Given the description of an element on the screen output the (x, y) to click on. 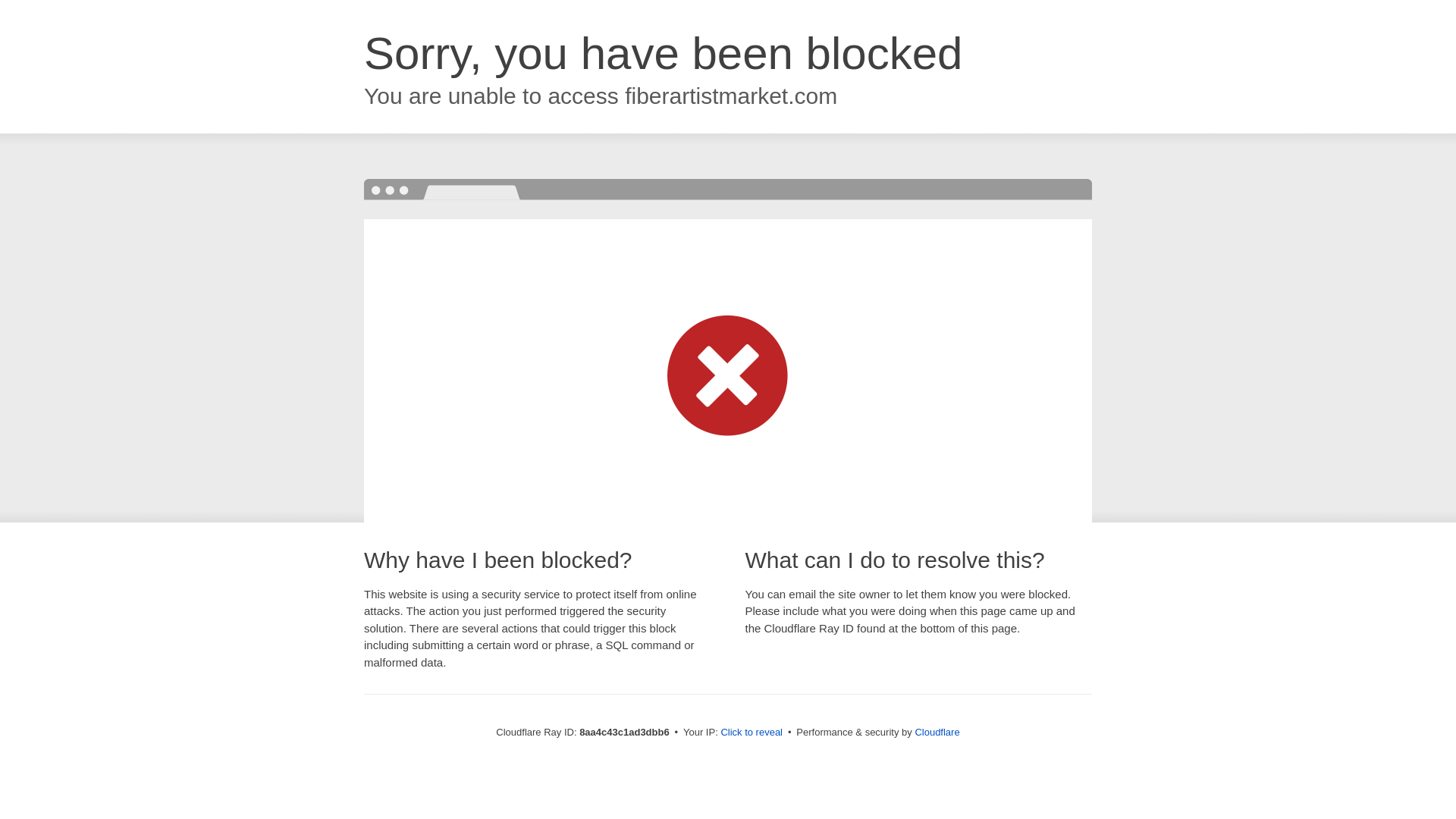
Click to reveal (751, 732)
Cloudflare (936, 731)
